Given the description of an element on the screen output the (x, y) to click on. 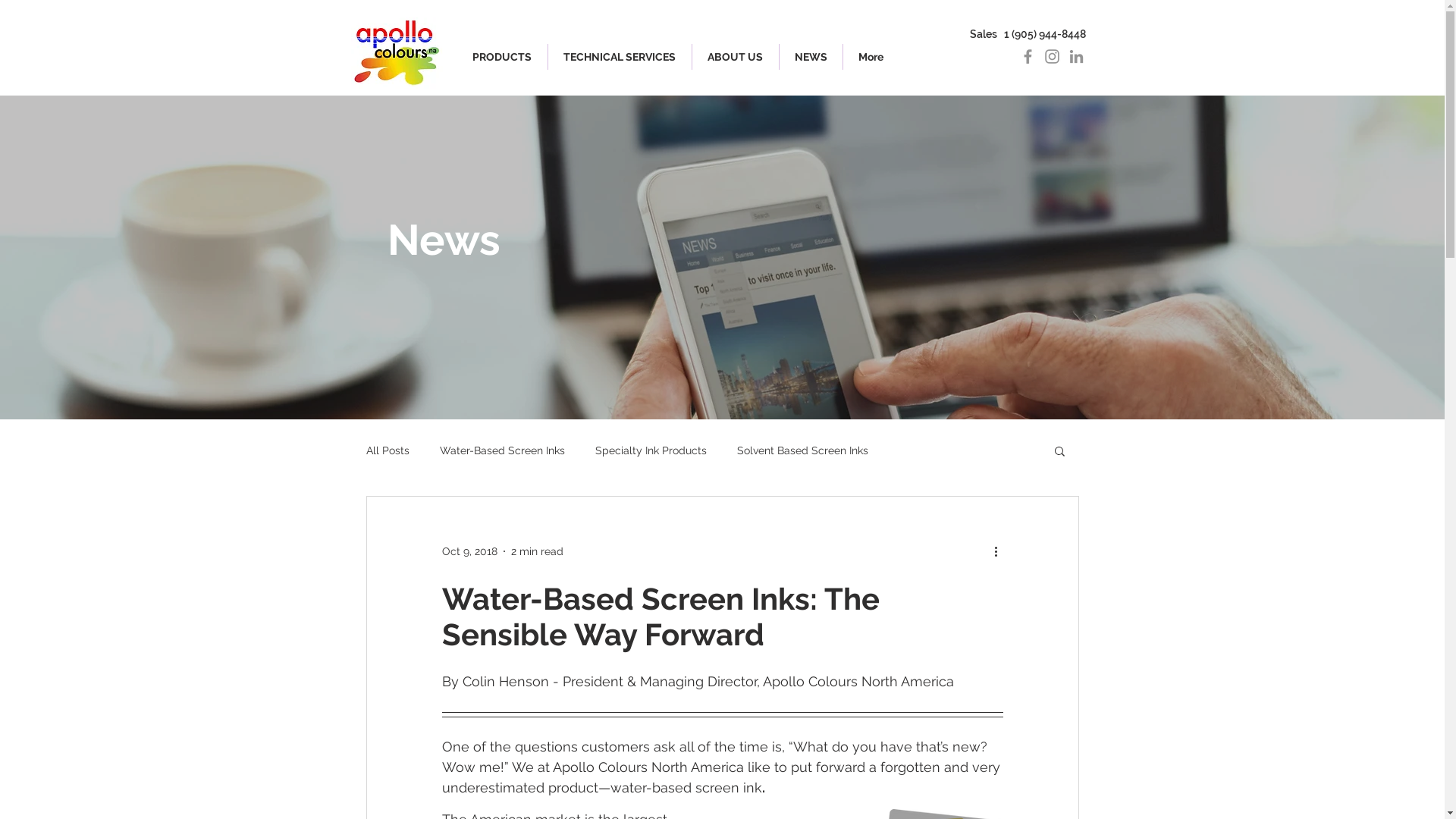
ABOUT US Element type: text (734, 56)
PRODUCTS Element type: text (501, 56)
TECHNICAL SERVICES Element type: text (618, 56)
Water-Based Screen Inks Element type: text (501, 450)
Solvent Based Screen Inks Element type: text (802, 450)
All Posts Element type: text (386, 450)
NEWS Element type: text (810, 56)
Specialty Ink Products Element type: text (650, 450)
